Given the description of an element on the screen output the (x, y) to click on. 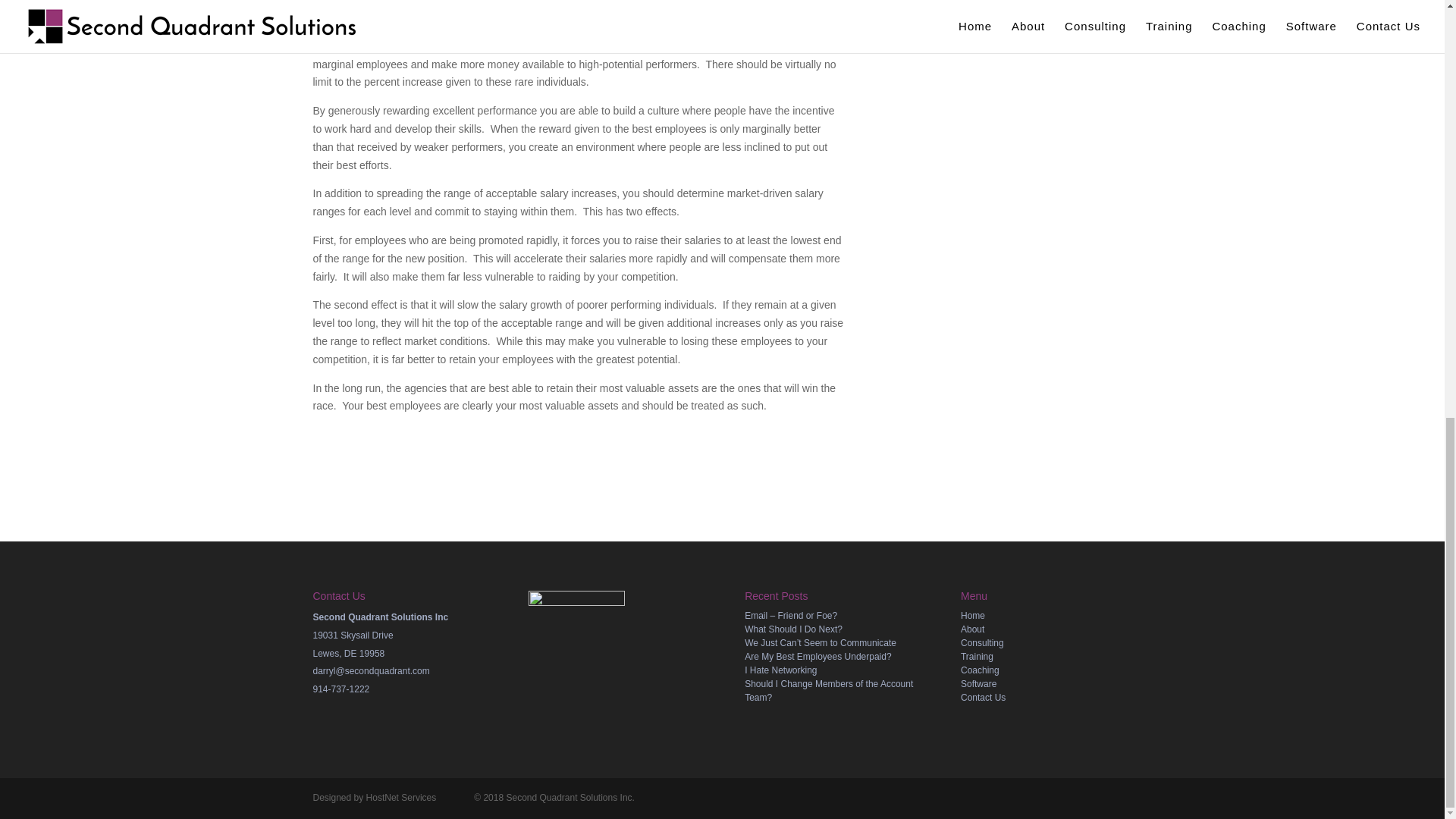
About (972, 629)
Contact Us (983, 697)
I Hate Networking (780, 670)
Software (977, 683)
What Should I Do Next? (793, 629)
Are My Best Employees Underpaid? (817, 656)
Training (976, 656)
Should I Change Members of the Account Team? (828, 690)
Home (972, 615)
Coaching (979, 670)
